Given the description of an element on the screen output the (x, y) to click on. 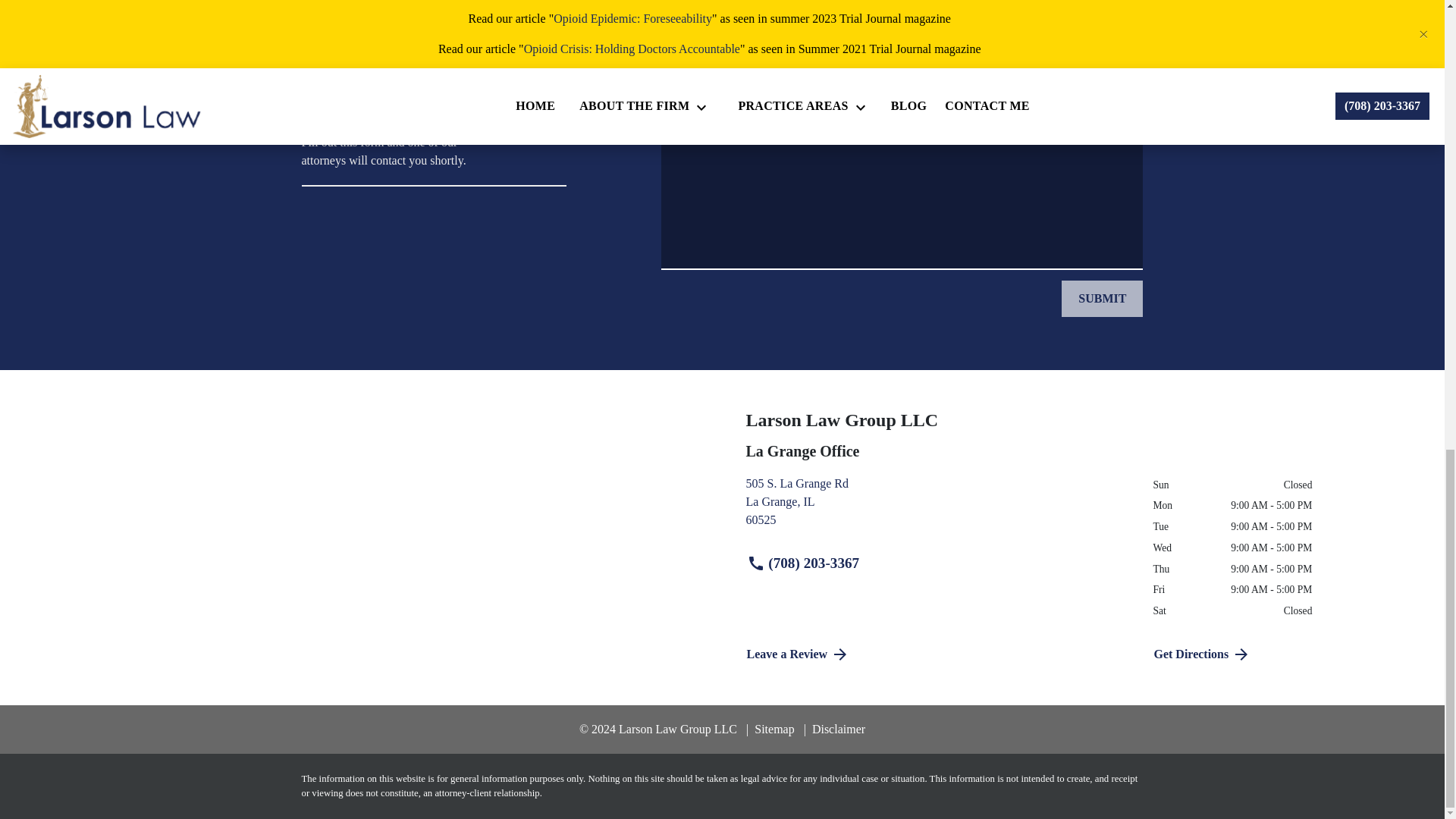
SUBMIT (938, 508)
Leave a Review (1101, 298)
